Given the description of an element on the screen output the (x, y) to click on. 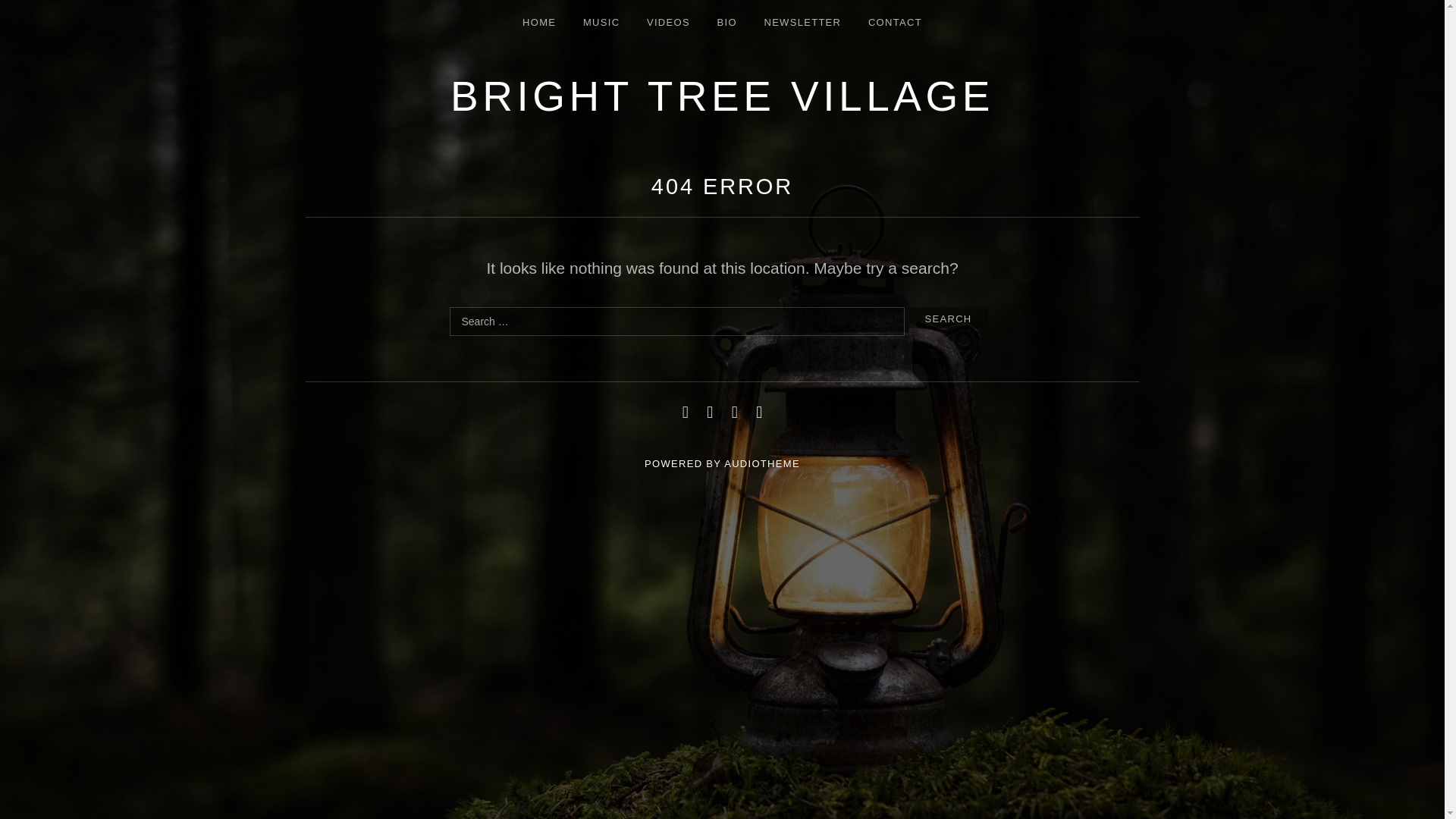
BIO (726, 22)
BRIGHT TREE VILLAGE (721, 95)
NEWSLETTER (802, 22)
AUDIOTHEME (761, 463)
HOME (539, 22)
VIDEOS (667, 22)
Search (948, 317)
CONTACT (895, 22)
MUSIC (600, 22)
Search (948, 317)
